Given the description of an element on the screen output the (x, y) to click on. 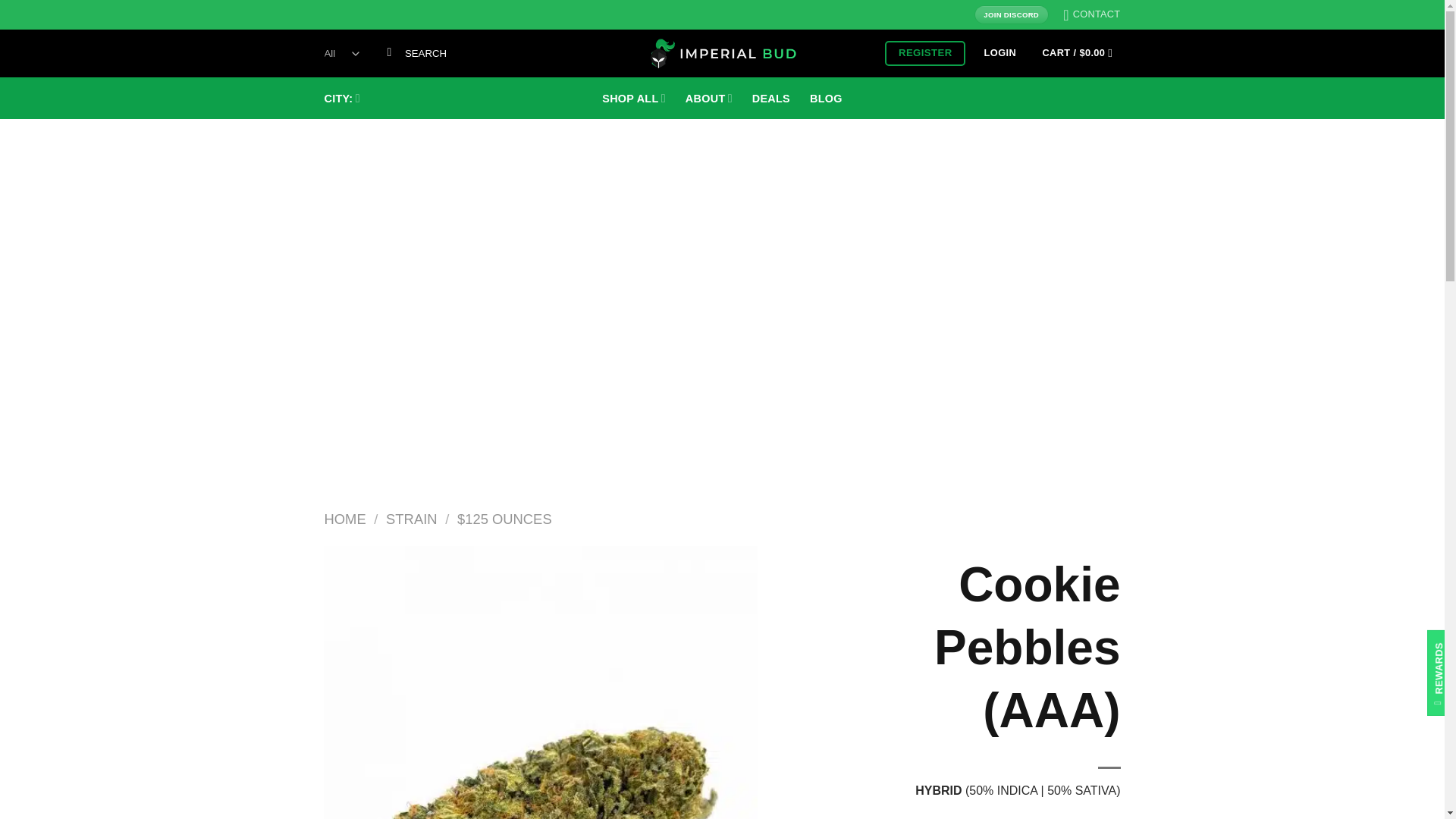
Cart (1077, 53)
CITY: (341, 98)
Search (389, 53)
cookie-pebbles-e1644558637279-1.jpeg (540, 682)
CONTACT (1090, 14)
JOIN DISCORD (1011, 14)
LOGIN (999, 53)
REGISTER (925, 53)
